Given the description of an element on the screen output the (x, y) to click on. 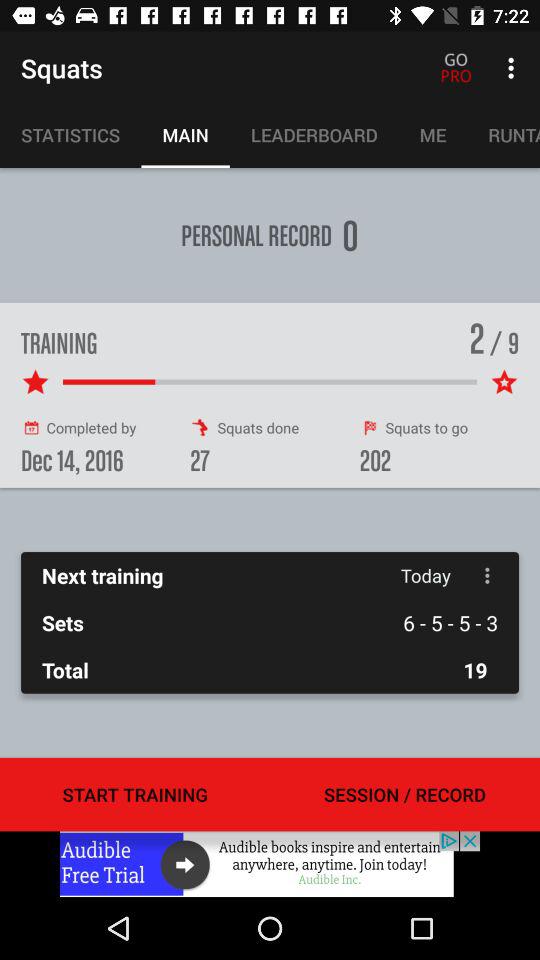
important to know (270, 864)
